Given the description of an element on the screen output the (x, y) to click on. 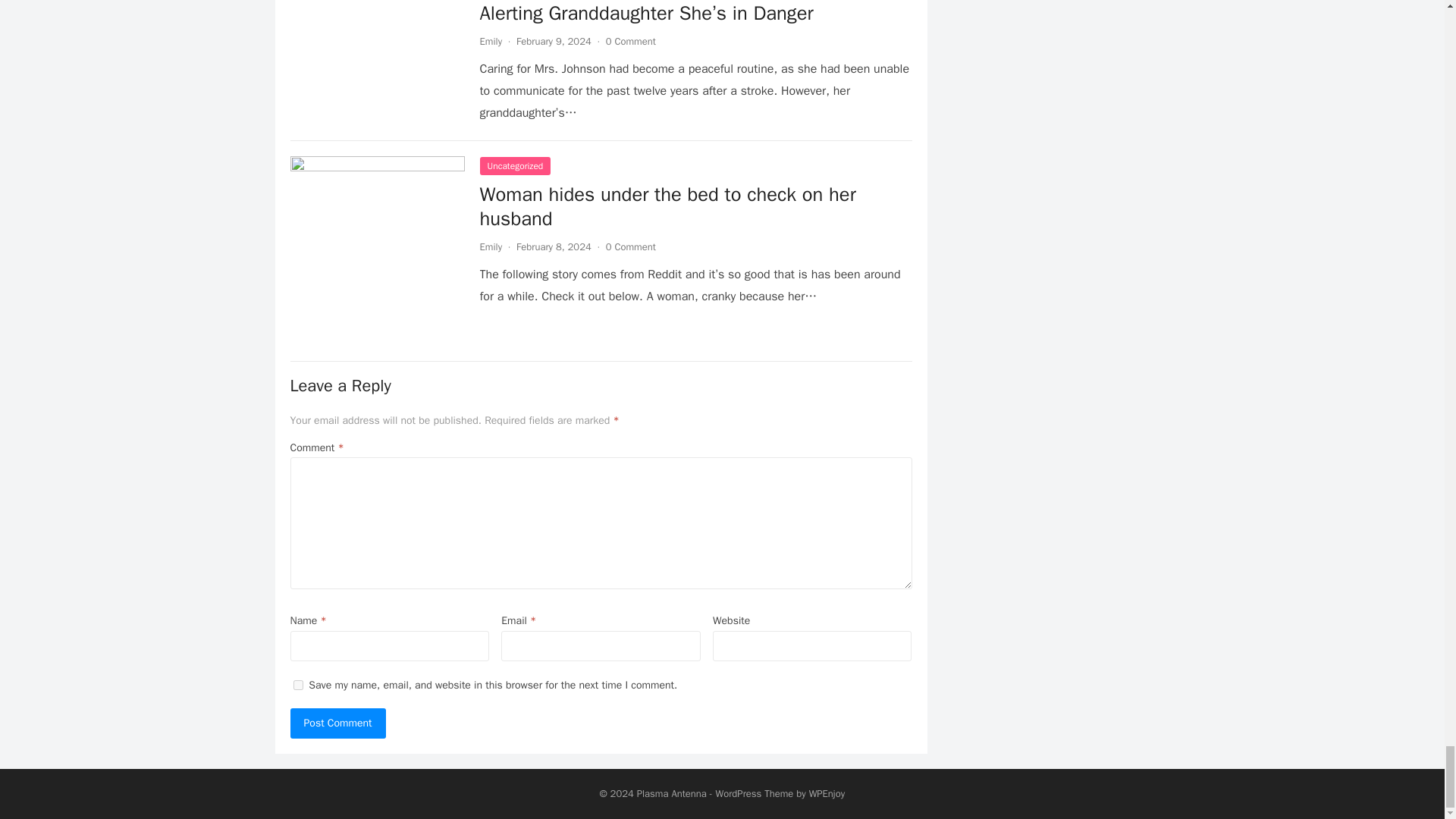
Post Comment (337, 723)
Posts by Emily (490, 41)
yes (297, 685)
Posts by Emily (490, 246)
